Given the description of an element on the screen output the (x, y) to click on. 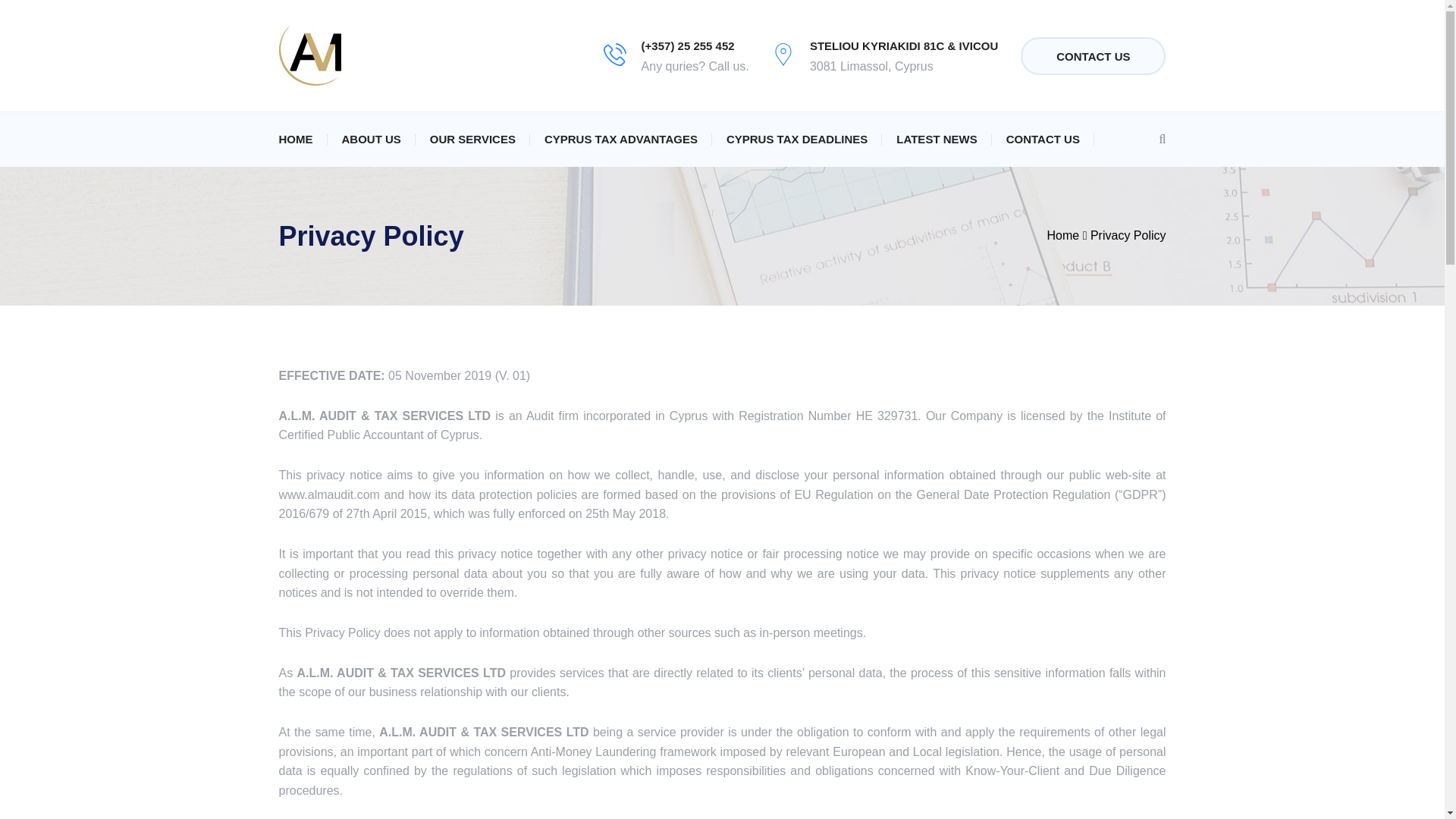
Home (1062, 235)
HOME (296, 138)
LATEST NEWS (936, 138)
CYPRUS TAX ADVANTAGES (620, 138)
CYPRUS TAX DEADLINES (796, 138)
Search (1077, 170)
CONTACT US (1093, 55)
CONTACT US (1043, 138)
OUR SERVICES (472, 138)
ABOUT US (370, 138)
